Given the description of an element on the screen output the (x, y) to click on. 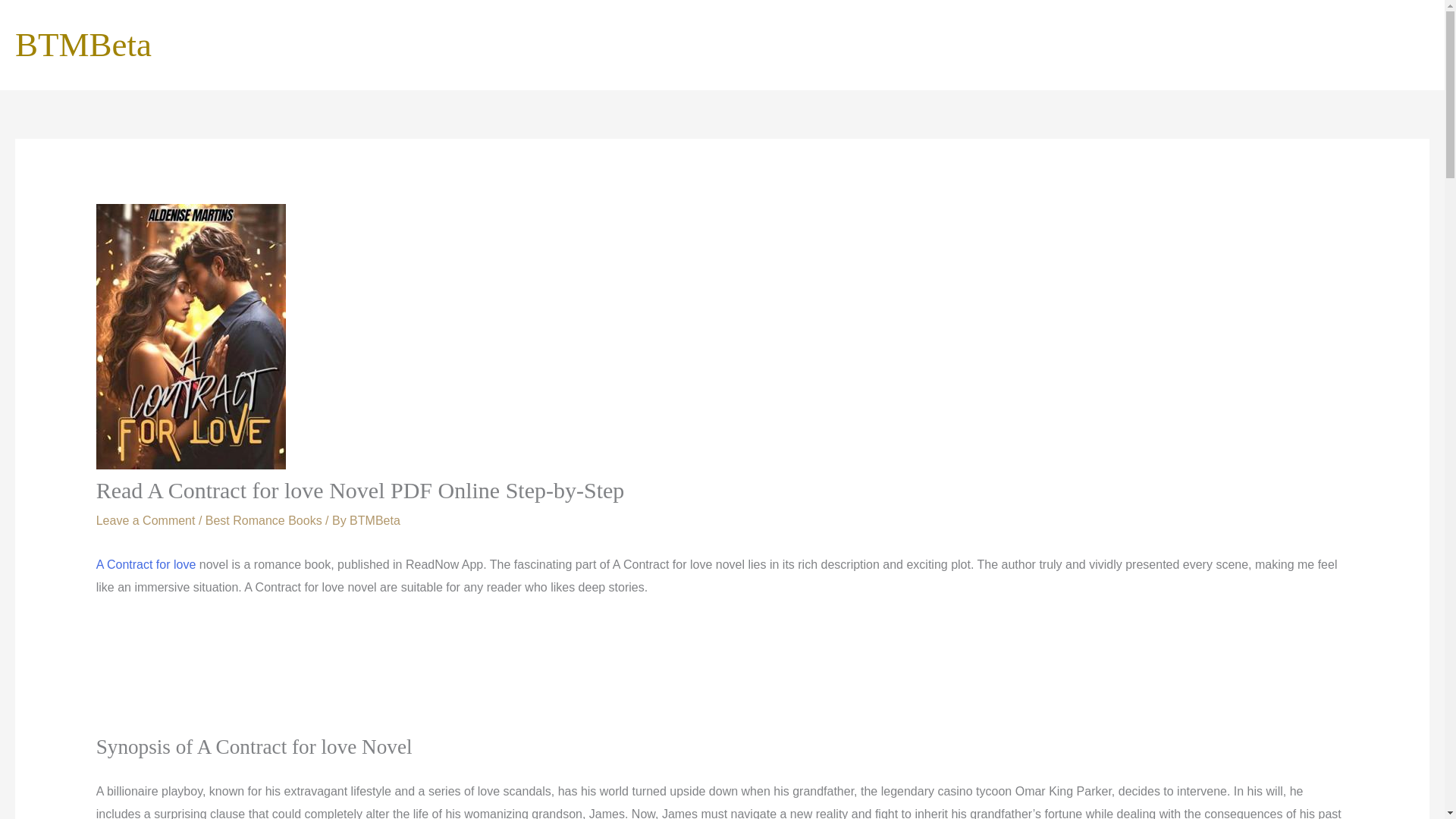
BTMBeta (82, 44)
A Contract for love (146, 563)
Advertisement (721, 675)
BTMBeta (374, 520)
Leave a Comment (145, 520)
Best Romance Books (263, 520)
View all posts by BTMBeta (374, 520)
